Given the description of an element on the screen output the (x, y) to click on. 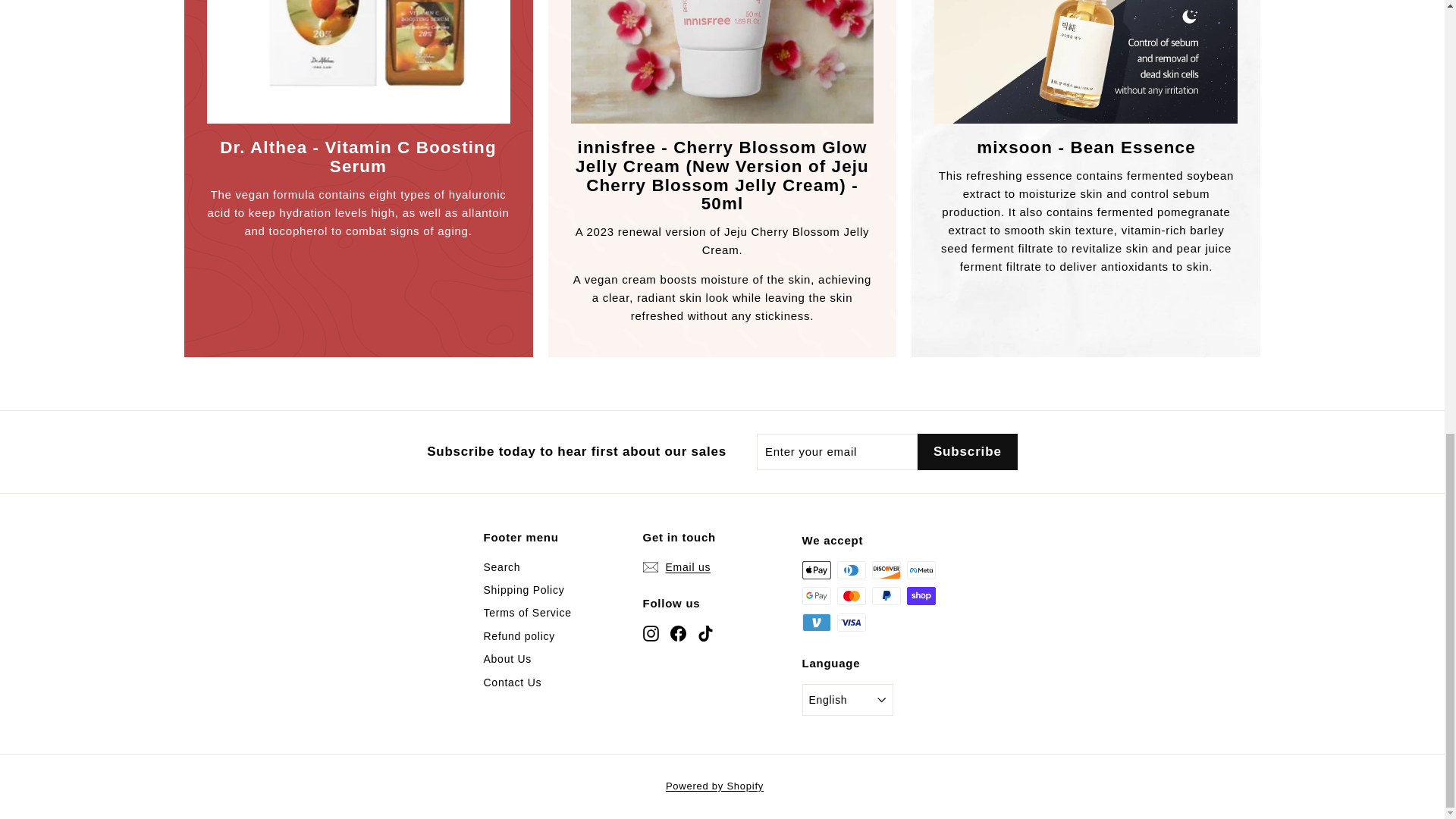
KBEAUTYOUTLETUSA.COM on TikTok (705, 632)
Discover (886, 570)
instagram (651, 633)
KBEAUTYOUTLETUSA.COM on Facebook (677, 632)
Apple Pay (816, 570)
KBEAUTYOUTLETUSA.COM on Instagram (651, 632)
Diners Club (851, 570)
Meta Pay (921, 570)
